Given the description of an element on the screen output the (x, y) to click on. 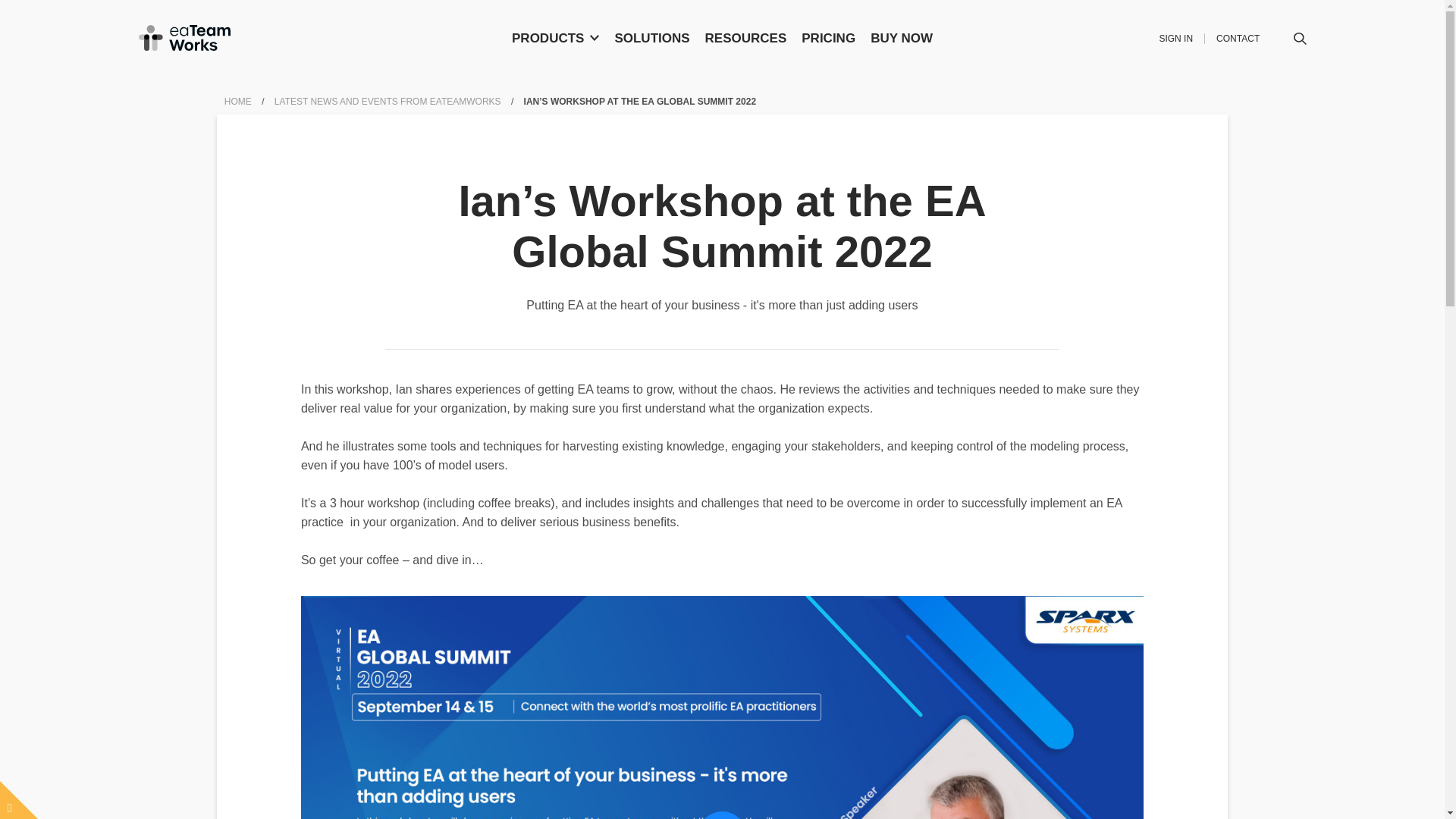
RESOURCES (745, 37)
SOLUTIONS (652, 37)
CONTACT (1238, 38)
SIGN IN (1176, 38)
PRICING (828, 37)
BUY NOW (901, 37)
